Given the description of an element on the screen output the (x, y) to click on. 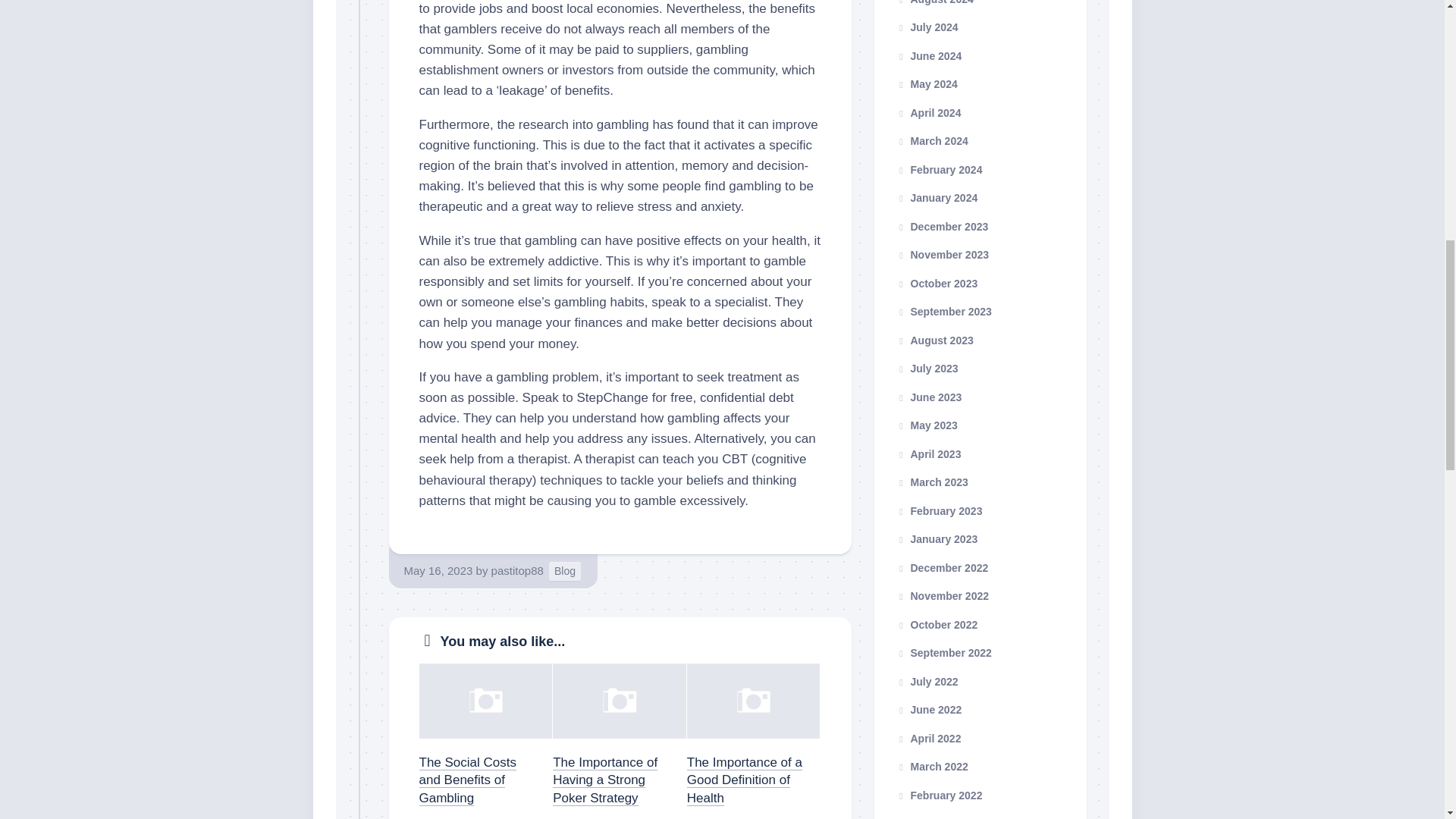
April 2024 (928, 111)
May 2024 (926, 83)
February 2024 (938, 169)
pastitop88 (517, 570)
July 2023 (927, 368)
September 2023 (943, 311)
December 2023 (942, 225)
January 2024 (936, 197)
August 2024 (934, 2)
Posts by pastitop88 (517, 570)
